Given the description of an element on the screen output the (x, y) to click on. 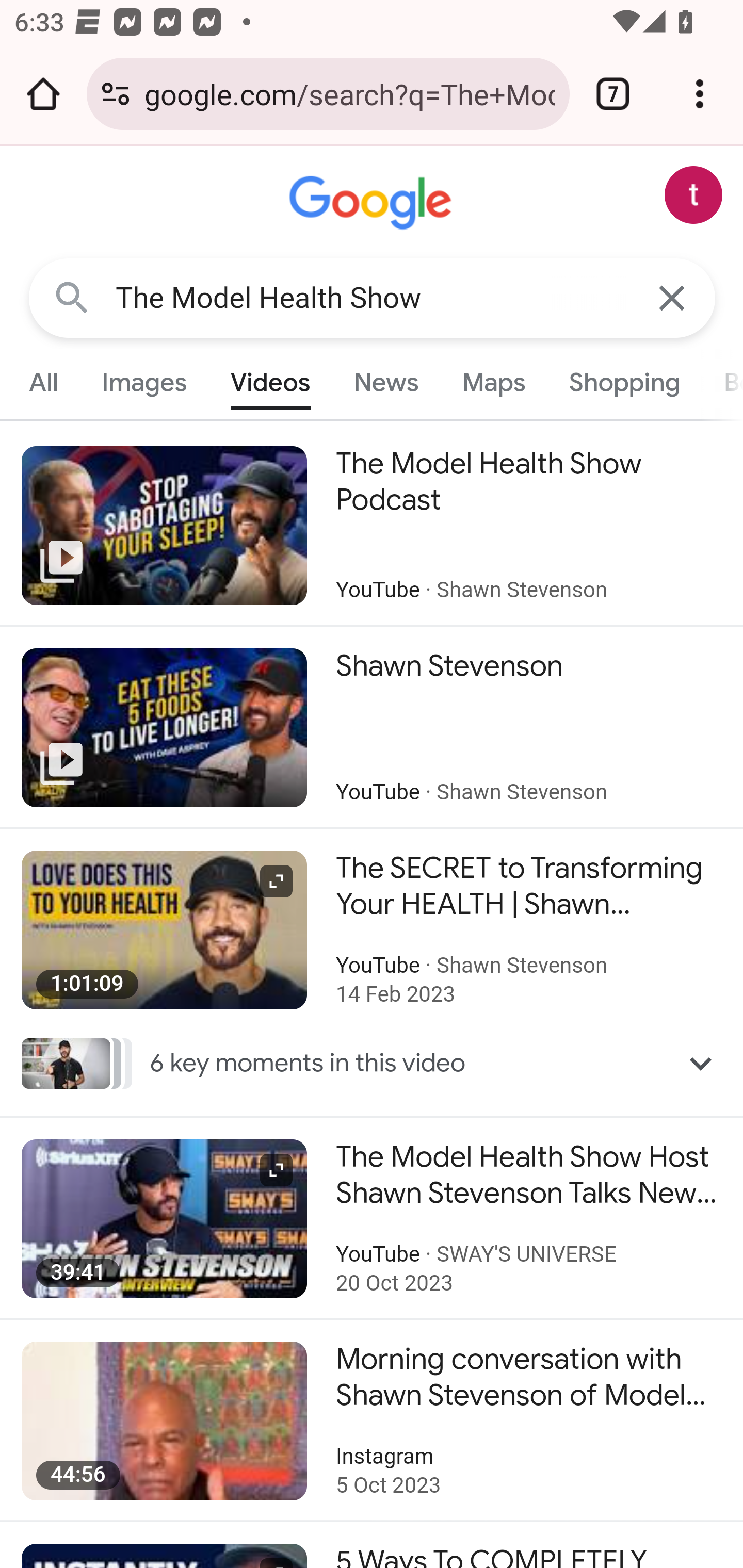
Open the home page (43, 93)
Connection is secure (115, 93)
Switch or close tabs (612, 93)
Customize and control Google Chrome (699, 93)
Google (372, 203)
Google Search (71, 296)
Clear Search (672, 296)
The Model Health Show (372, 297)
All (43, 382)
Images (144, 382)
News (385, 382)
Maps (493, 382)
Shopping (623, 382)
Shawn Stevenson Shawn Stevenson videos on YouTube (371, 727)
6 key moments in this video (372, 1062)
